Given the description of an element on the screen output the (x, y) to click on. 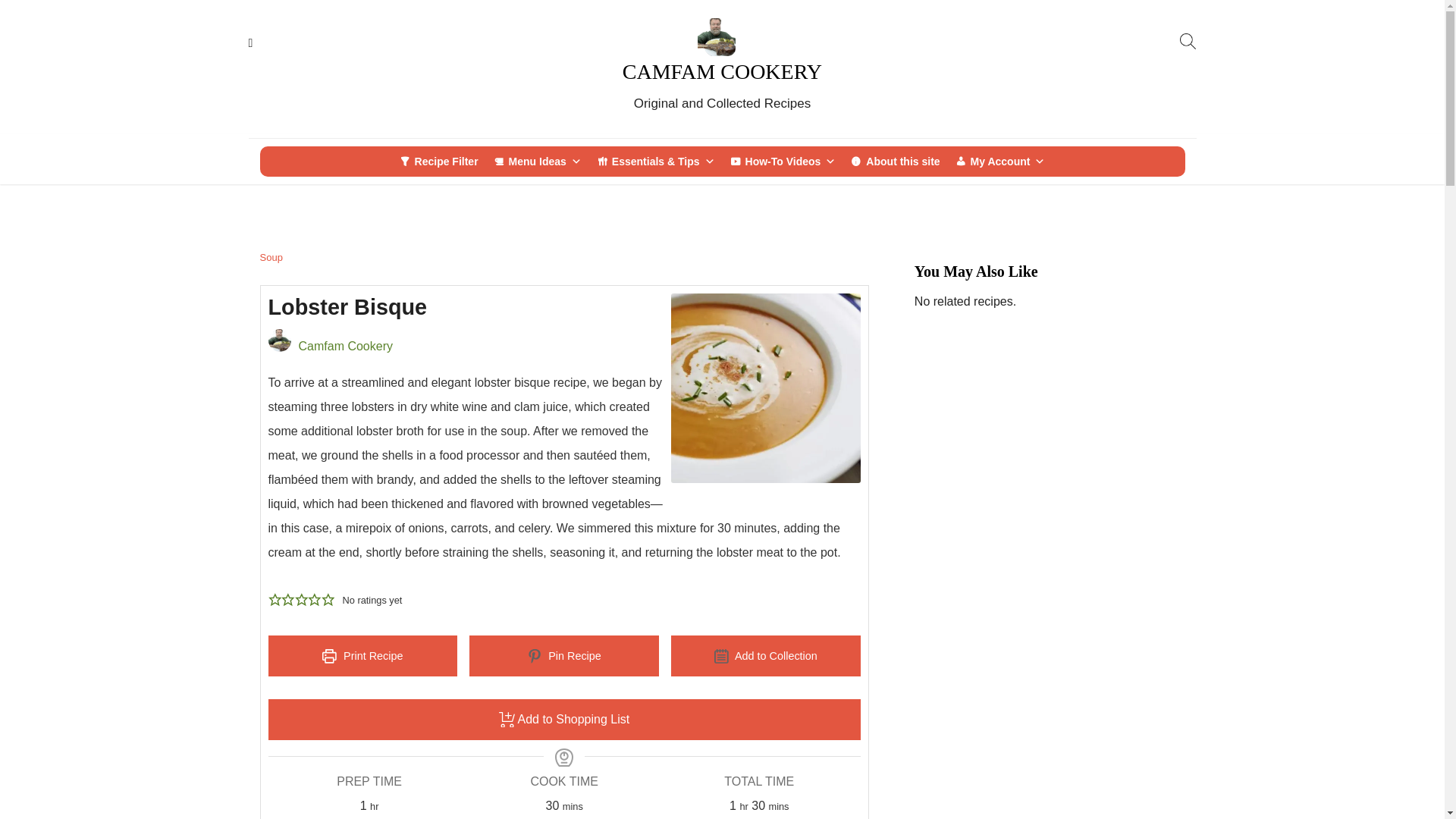
My Account (999, 161)
About this site (895, 161)
Recipe Filter (438, 161)
How-To Videos (783, 161)
CAMFAM COOKERY (722, 71)
Menu Ideas (537, 161)
